Given the description of an element on the screen output the (x, y) to click on. 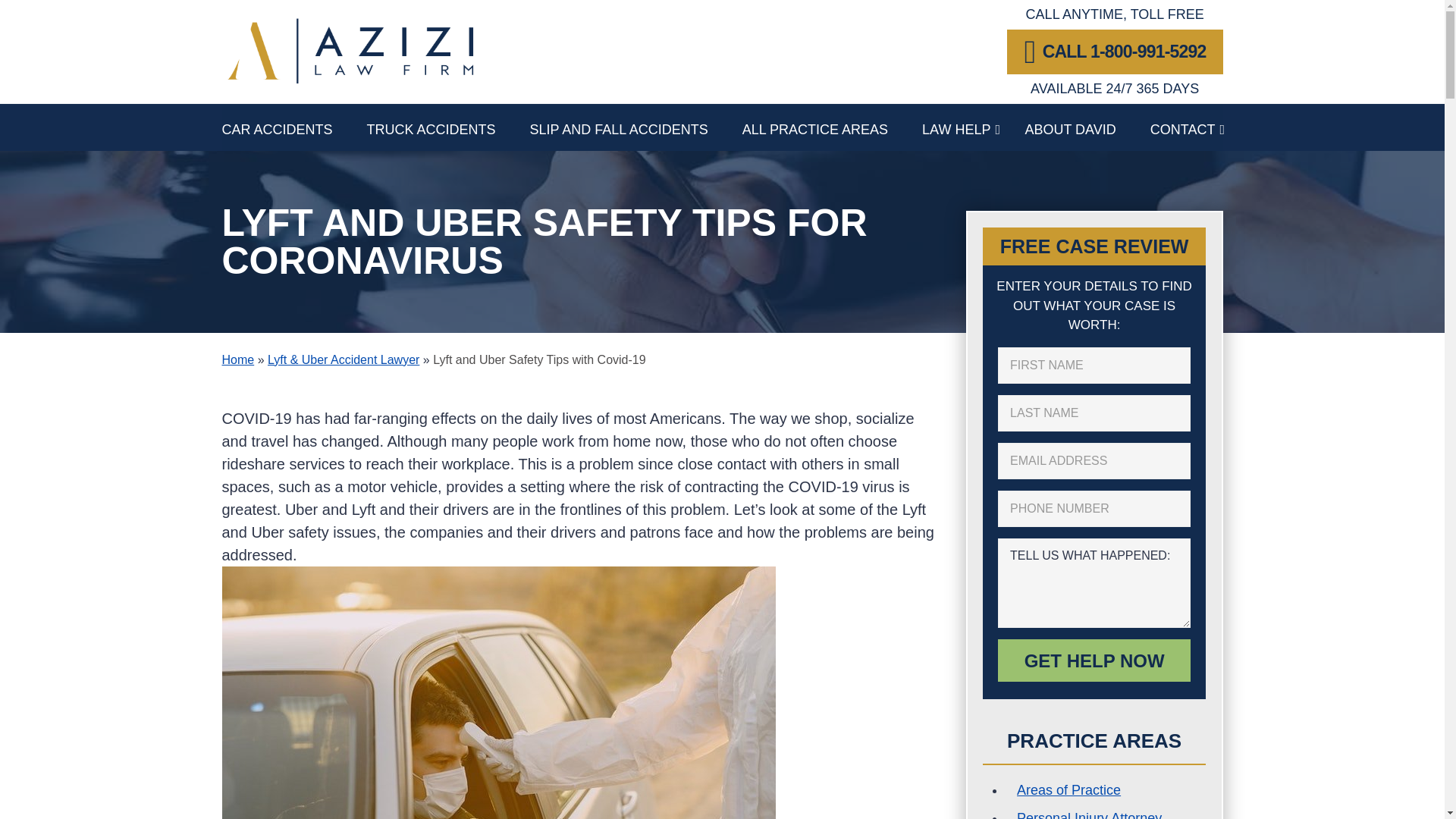
Los Angeles Car Accident Lawyer (293, 127)
Home (237, 359)
CONTACT (1182, 127)
Slip, Trip and Fall Accident Lawyer (635, 127)
SLIP AND FALL ACCIDENTS (635, 127)
Get Help Now (1094, 660)
ALL PRACTICE AREAS (831, 127)
ABOUT DAVID (1087, 127)
TRUCK ACCIDENTS (447, 127)
CALL 1-800-991-5292 (1115, 51)
